Given the description of an element on the screen output the (x, y) to click on. 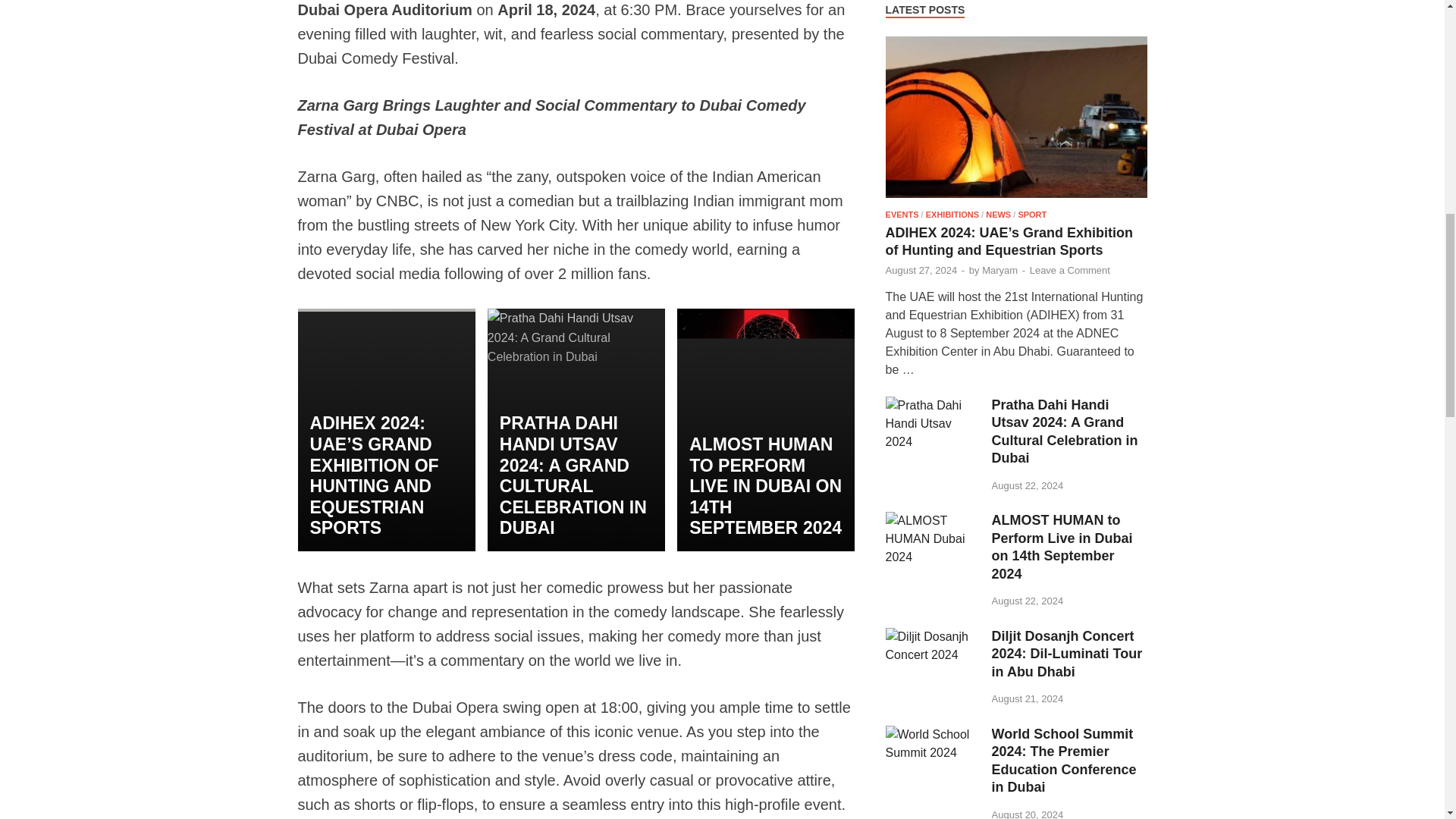
ALMOST HUMAN TO PERFORM LIVE IN DUBAI ON 14TH SEPTEMBER 2024 (764, 486)
ALMOST HUMAN to Perform Live in Dubai on 14th September 2024 (764, 486)
ALMOST HUMAN to Perform Live in Dubai on 14th September 2024 (932, 520)
Diljit Dosanjh Concert 2024: Dil-Luminati Tour in Abu Dhabi (932, 635)
